Given the description of an element on the screen output the (x, y) to click on. 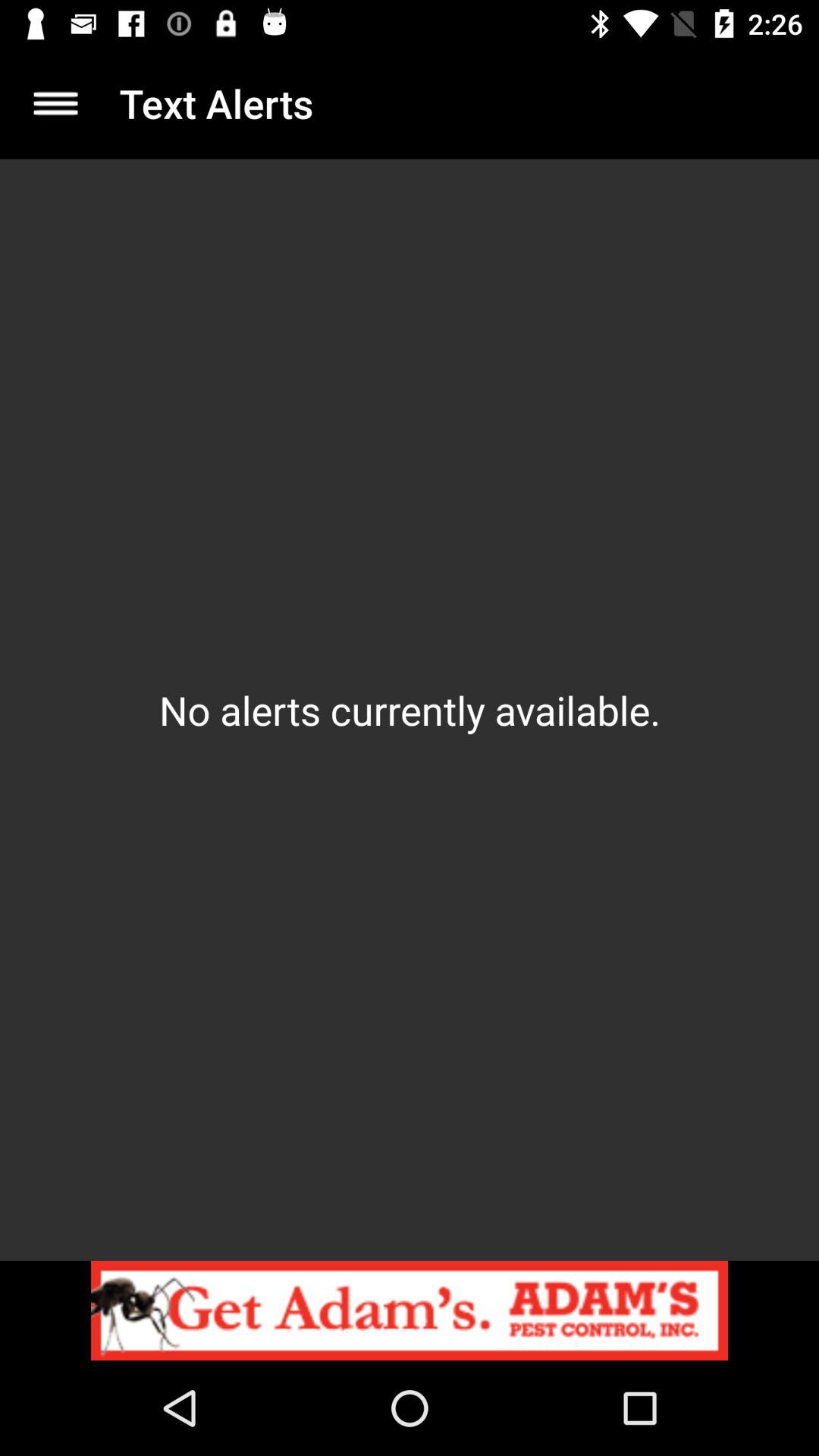
choose the app to the left of the text alerts (55, 103)
